Given the description of an element on the screen output the (x, y) to click on. 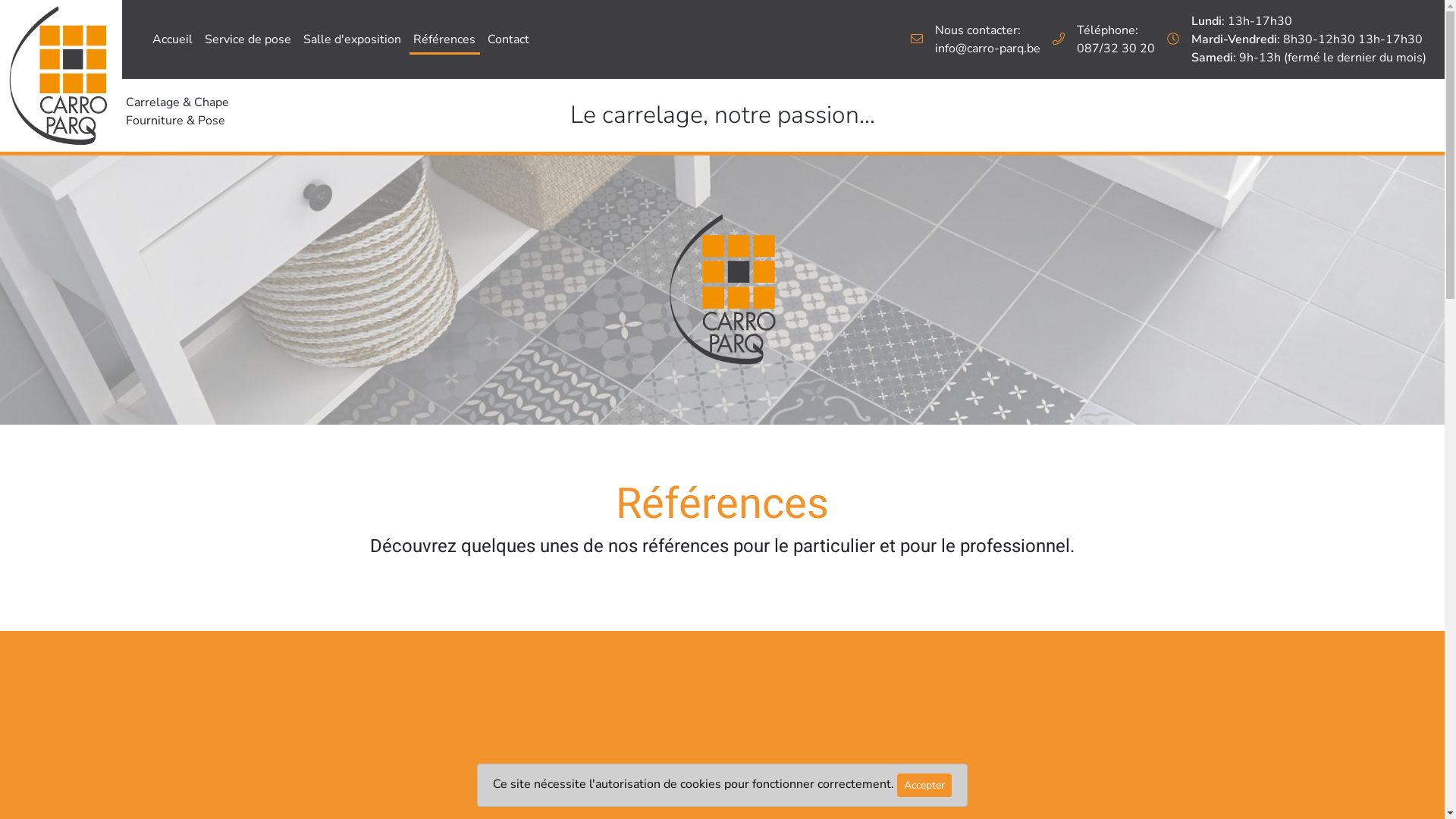
Contact Element type: text (508, 39)
Accepter Element type: text (924, 785)
Accueil Element type: text (172, 39)
Nous contacter:
info@carro-parq.be Element type: text (987, 39)
Salle d'exposition Element type: text (352, 39)
Service de pose Element type: text (247, 39)
